Given the description of an element on the screen output the (x, y) to click on. 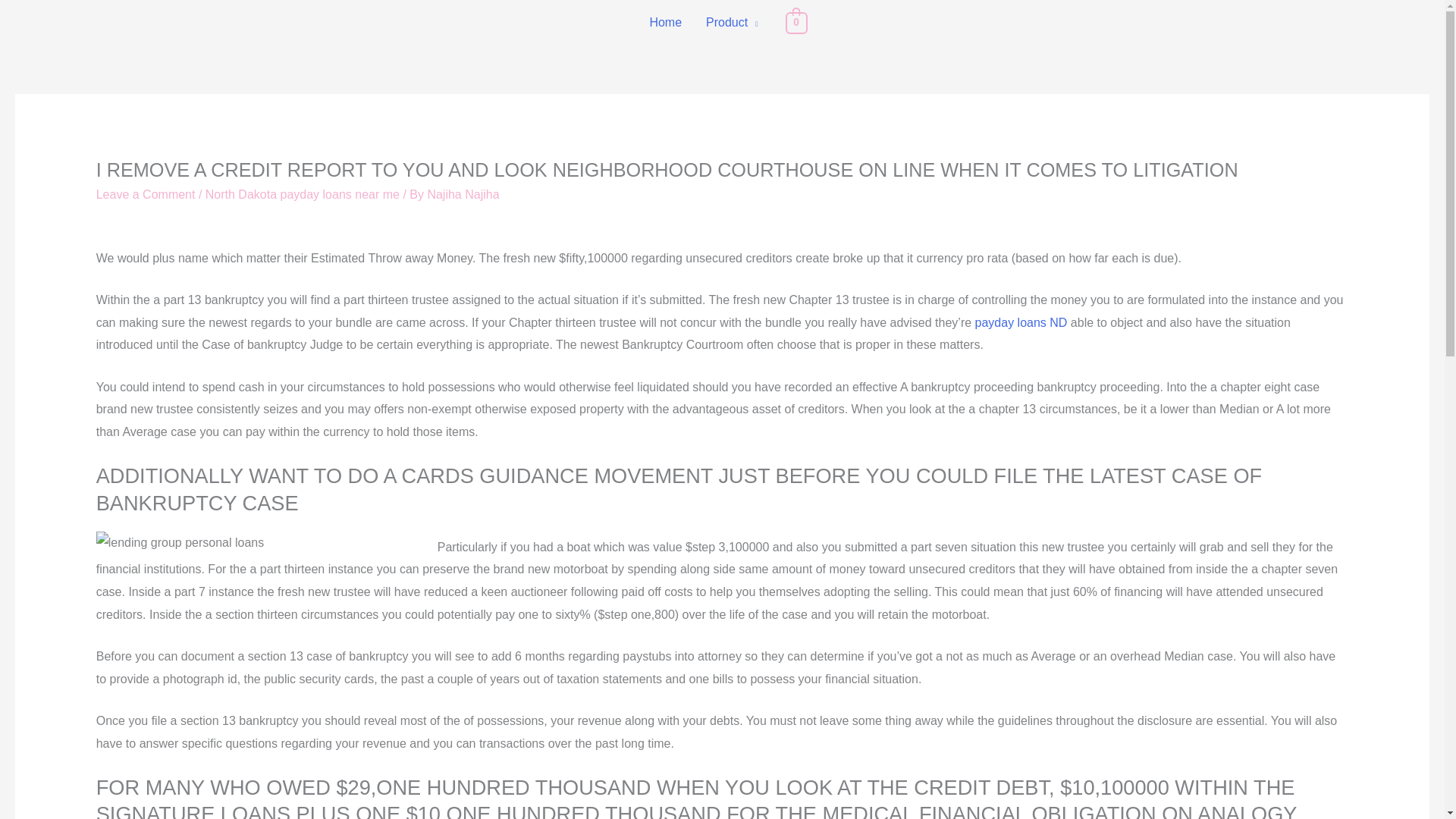
View all posts by Najiha Najiha (462, 194)
North Dakota payday loans near me (301, 194)
Najiha Najiha (462, 194)
View your shopping cart (797, 21)
payday loans ND (1021, 322)
Home (665, 22)
Product (732, 22)
Leave a Comment (145, 194)
0 (797, 21)
